Given the description of an element on the screen output the (x, y) to click on. 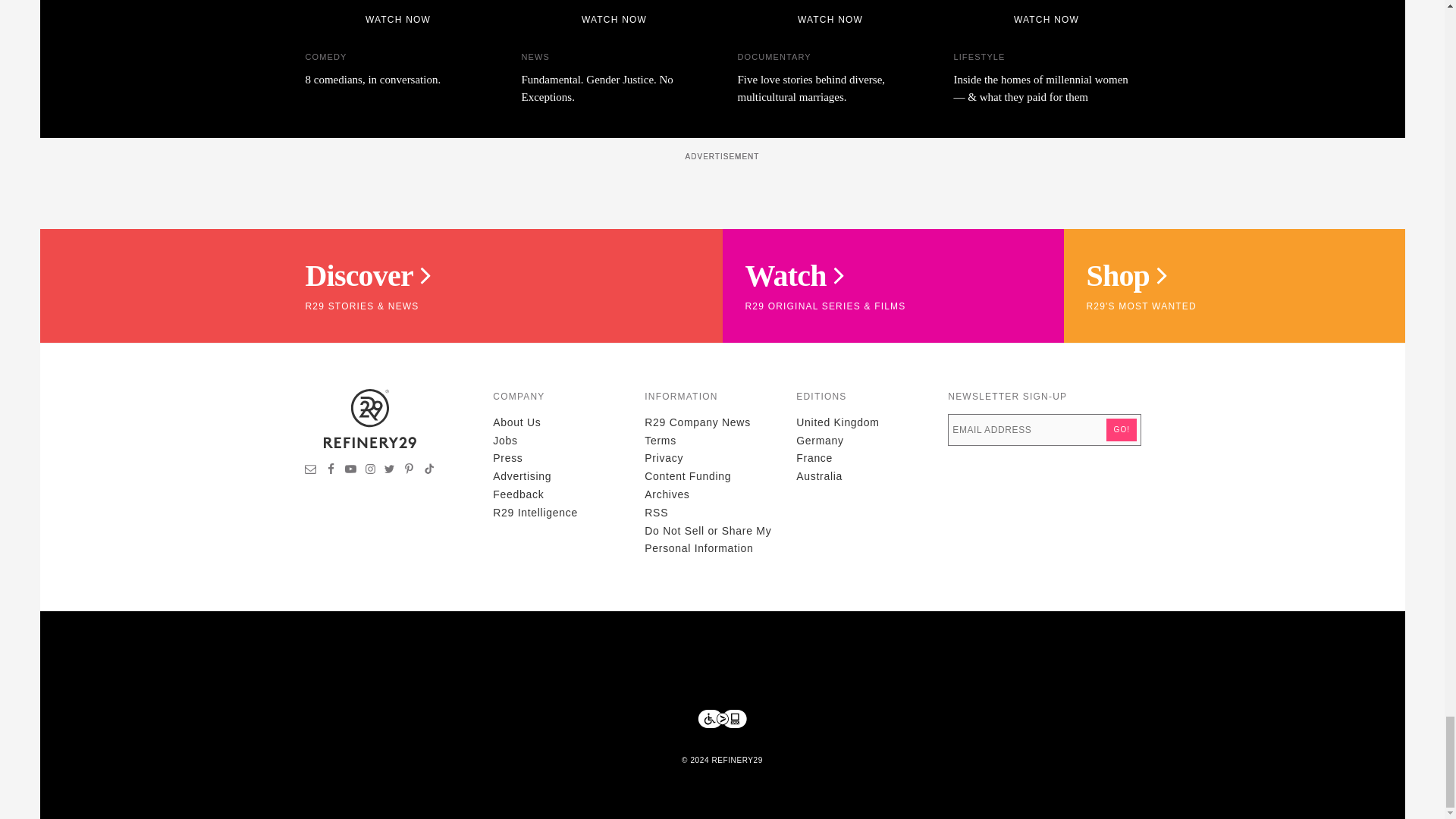
Visit Refinery29 on TikTok (428, 470)
Visit Refinery29 on YouTube (350, 470)
Sign up for newsletters (310, 470)
